Given the description of an element on the screen output the (x, y) to click on. 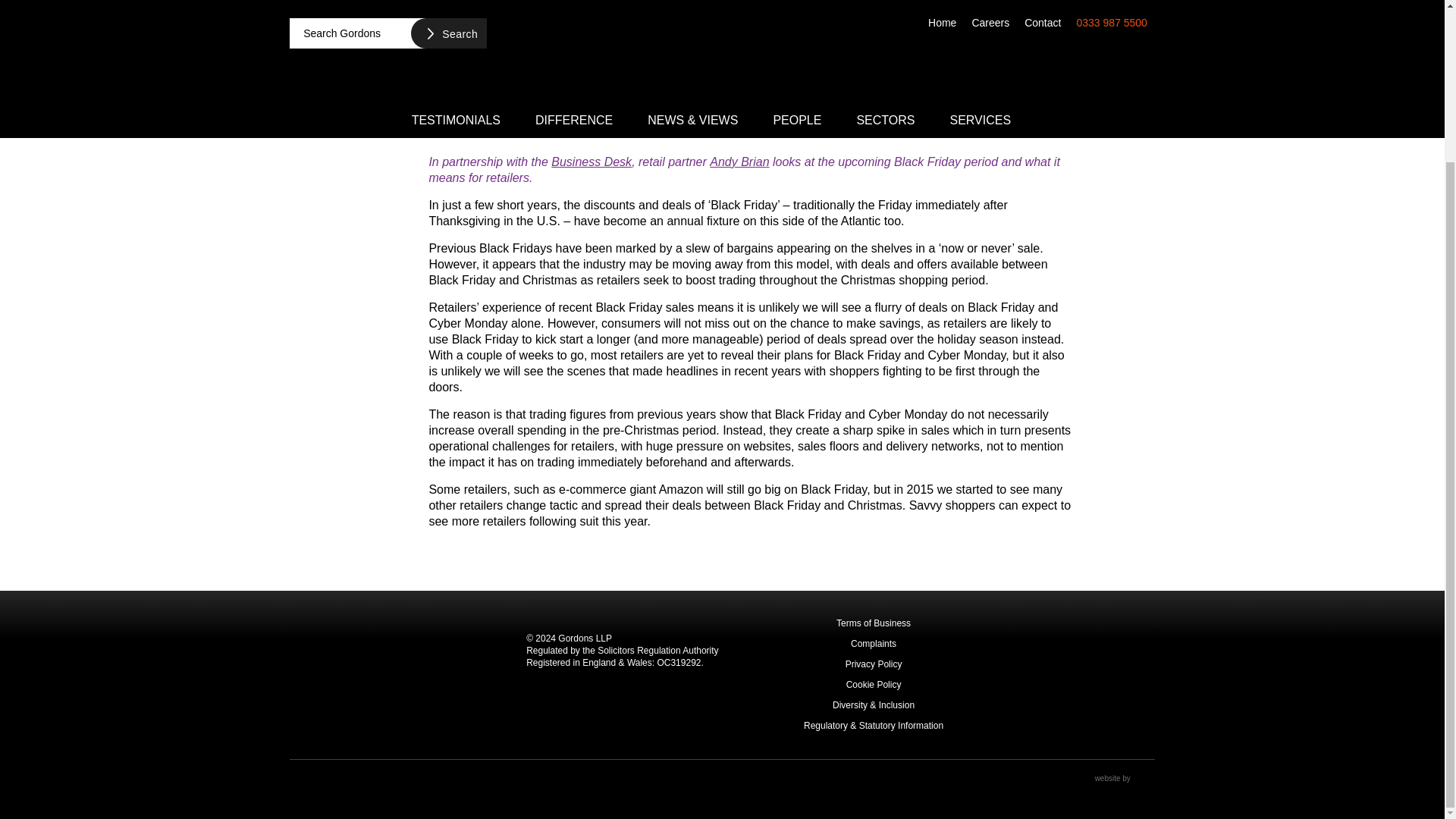
Gordons LLP (402, 674)
Gordons LLP LinkedIn (298, 783)
Solicitors regulation authority (1117, 674)
